Given the description of an element on the screen output the (x, y) to click on. 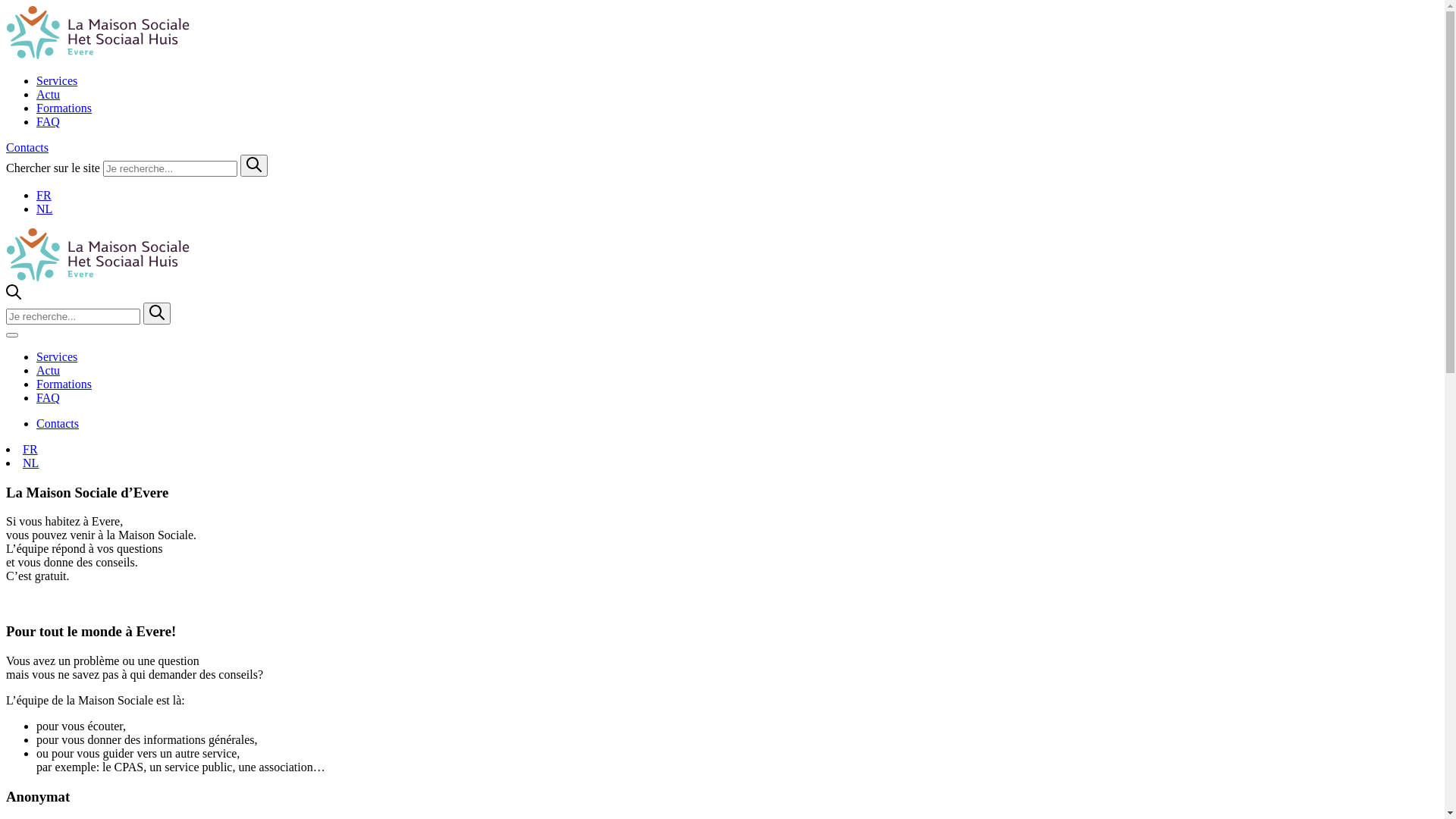
NL Element type: text (30, 462)
FAQ Element type: text (47, 397)
FAQ Element type: text (47, 121)
Services Element type: text (56, 356)
Formations Element type: text (63, 107)
Actu Element type: text (47, 93)
Contacts Element type: text (27, 147)
Formations Element type: text (63, 383)
NL Element type: text (44, 208)
Services Element type: text (56, 80)
FR Element type: text (29, 448)
Actu Element type: text (47, 370)
Contacts Element type: text (57, 423)
FR Element type: text (43, 194)
